Given the description of an element on the screen output the (x, y) to click on. 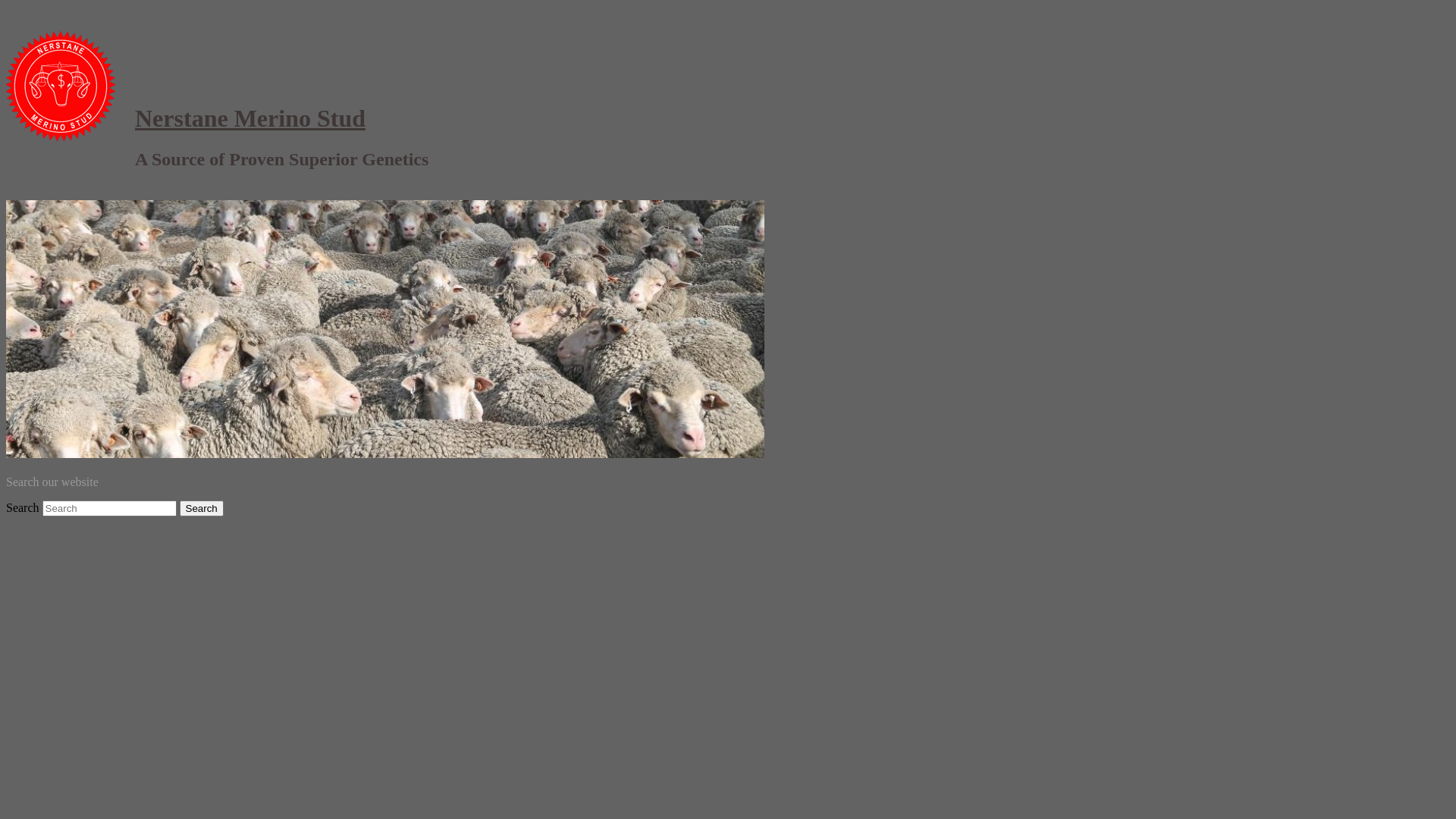
Search Element type: text (201, 508)
Nerstane Merino Stud Element type: text (249, 117)
